Given the description of an element on the screen output the (x, y) to click on. 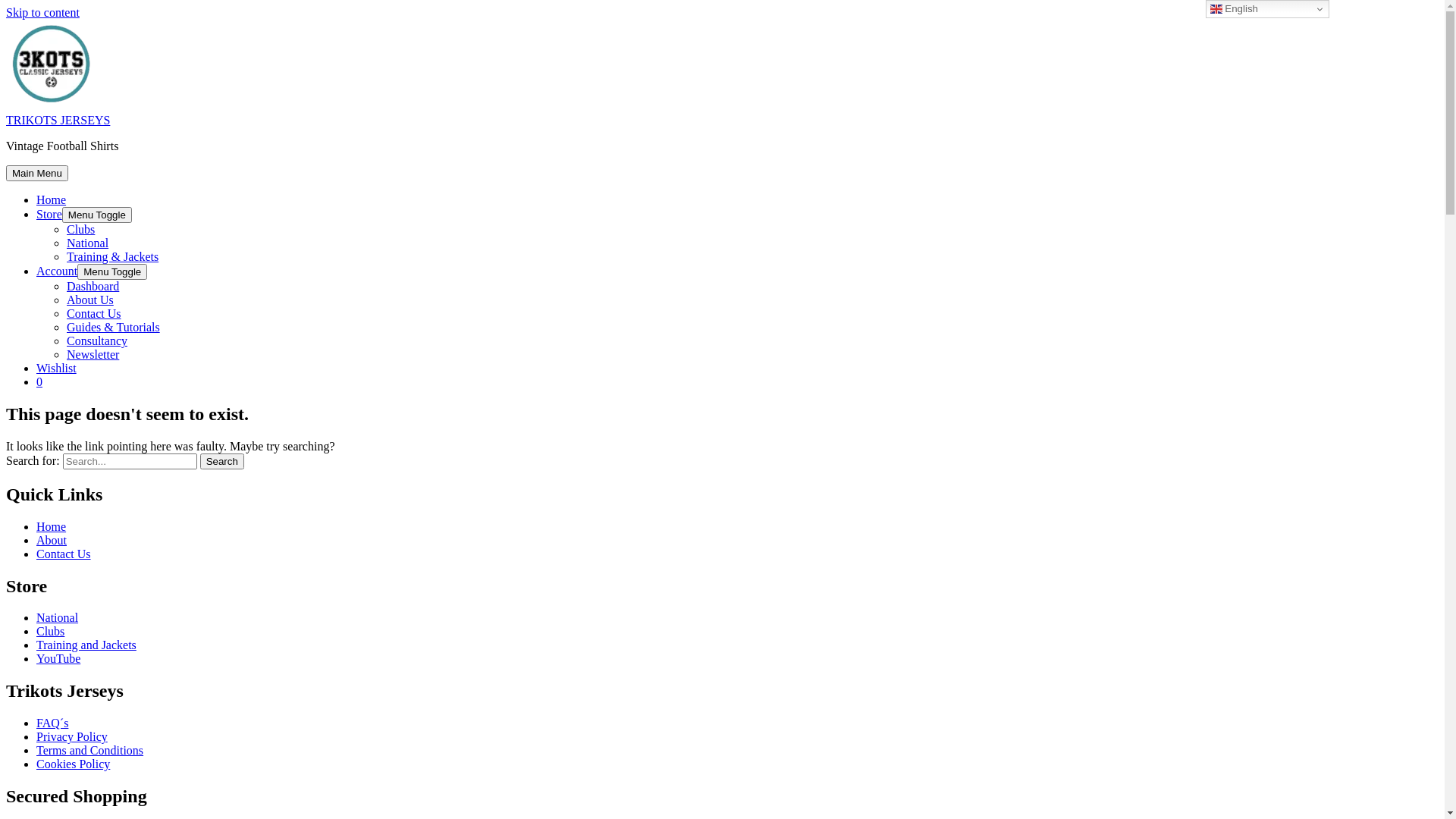
Privacy Policy Element type: text (71, 736)
Training & Jackets Element type: text (112, 256)
0 Element type: text (737, 382)
TRIKOTS JERSEYS Element type: text (57, 119)
Consultancy Element type: text (96, 340)
Cookies Policy Element type: text (72, 763)
Menu Toggle Element type: text (112, 271)
Wishlist Element type: text (56, 367)
Terms and Conditions Element type: text (89, 749)
National Element type: text (87, 242)
Main Menu Element type: text (37, 173)
Newsletter Element type: text (92, 354)
Contact Us Element type: text (63, 553)
Clubs Element type: text (80, 228)
Clubs Element type: text (50, 630)
Store Element type: text (49, 213)
Skip to content Element type: text (42, 12)
Home Element type: text (50, 526)
About Us Element type: text (89, 299)
Search Element type: text (222, 461)
Contact Us Element type: text (93, 313)
Guides & Tutorials Element type: text (113, 326)
Home Element type: text (50, 199)
Dashboard Element type: text (92, 285)
National Element type: text (57, 617)
English Element type: text (1267, 9)
About Element type: text (51, 539)
Menu Toggle Element type: text (96, 214)
Training and Jackets Element type: text (86, 644)
Account Element type: text (56, 270)
YouTube Element type: text (58, 658)
